Given the description of an element on the screen output the (x, y) to click on. 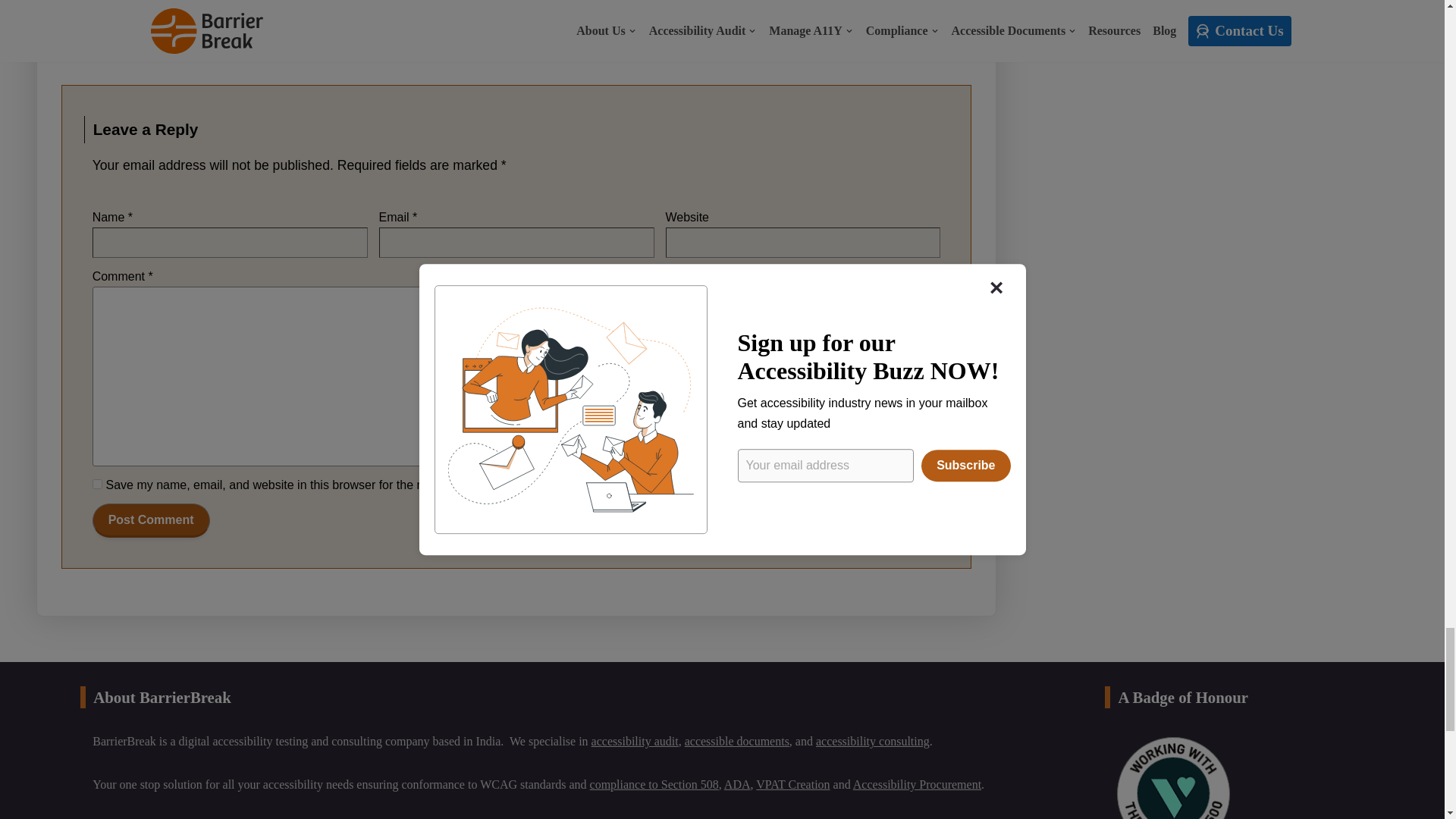
yes (97, 483)
iOS accessibility features (183, 18)
speech recognition (339, 18)
Post Comment (151, 520)
